Given the description of an element on the screen output the (x, y) to click on. 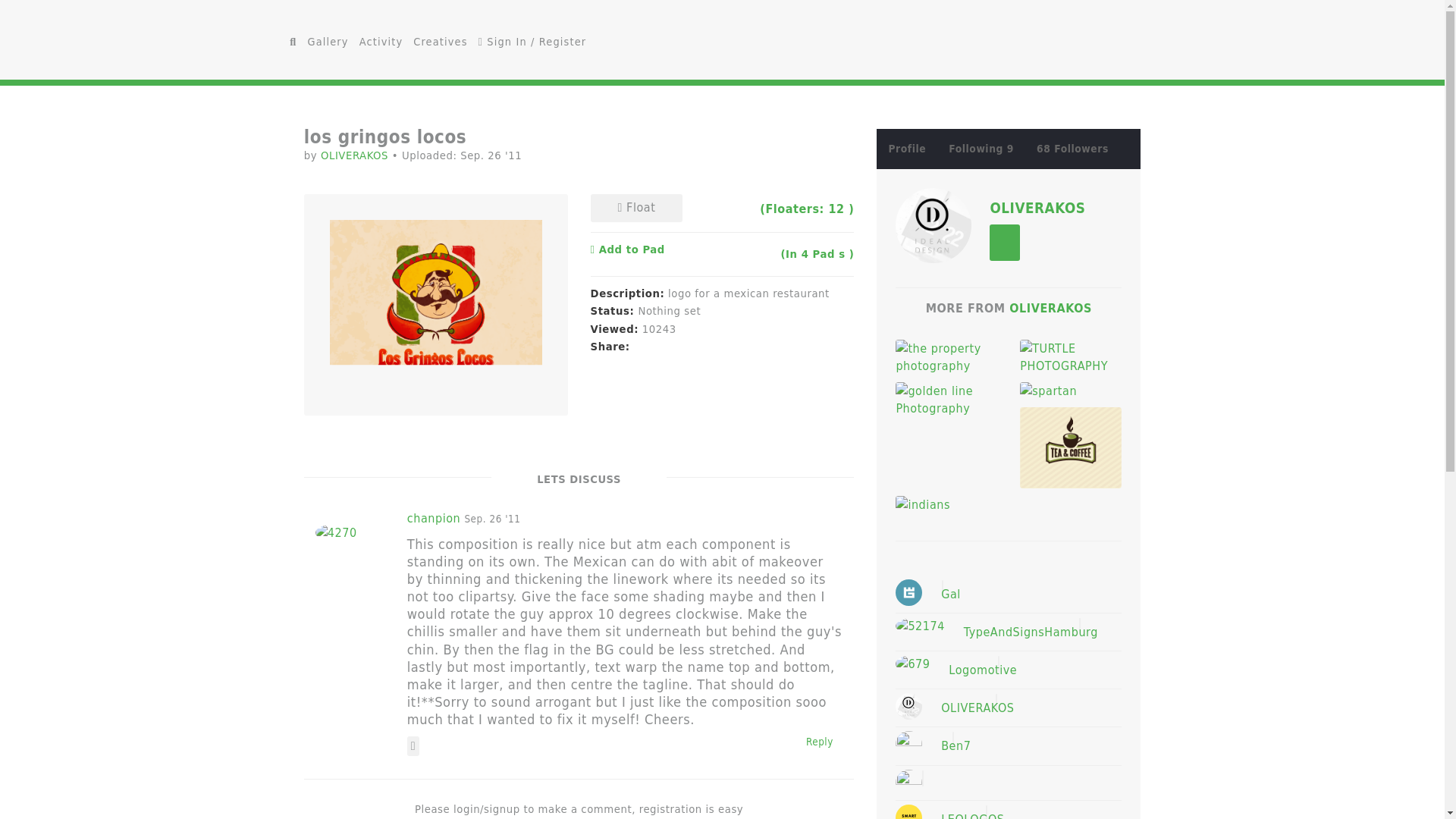
Add to Pad (628, 248)
OLIVERAKOS (355, 154)
golden line Photography (946, 399)
OLIVERAKOS (1037, 207)
68 Followers (1072, 148)
spartan (1070, 390)
OLIVERAKOS (1050, 308)
OLIVERAKOS (933, 224)
los gringos locos (435, 304)
OLIVERAKOS (355, 154)
